Given the description of an element on the screen output the (x, y) to click on. 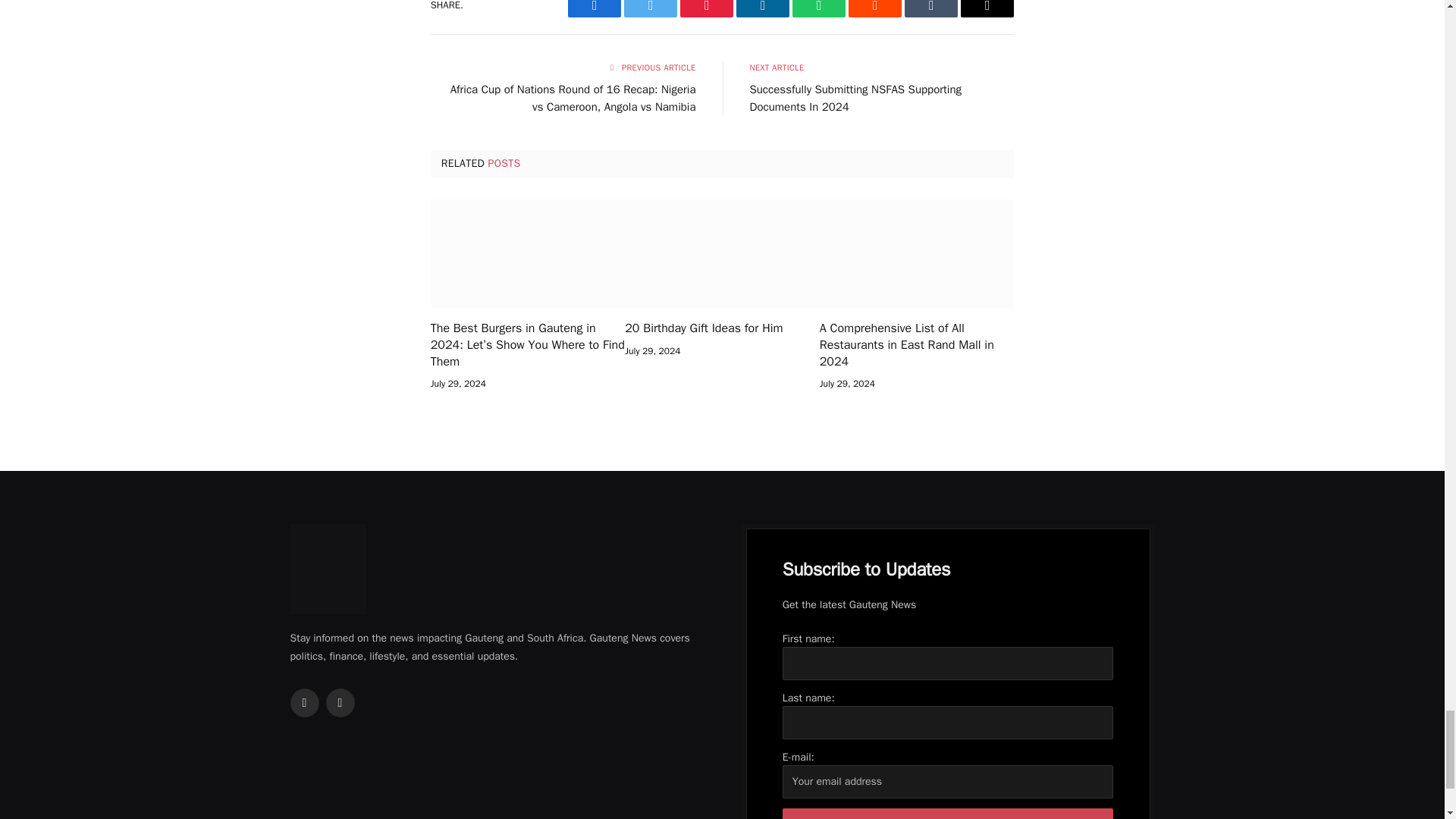
Sign up (948, 813)
